Given the description of an element on the screen output the (x, y) to click on. 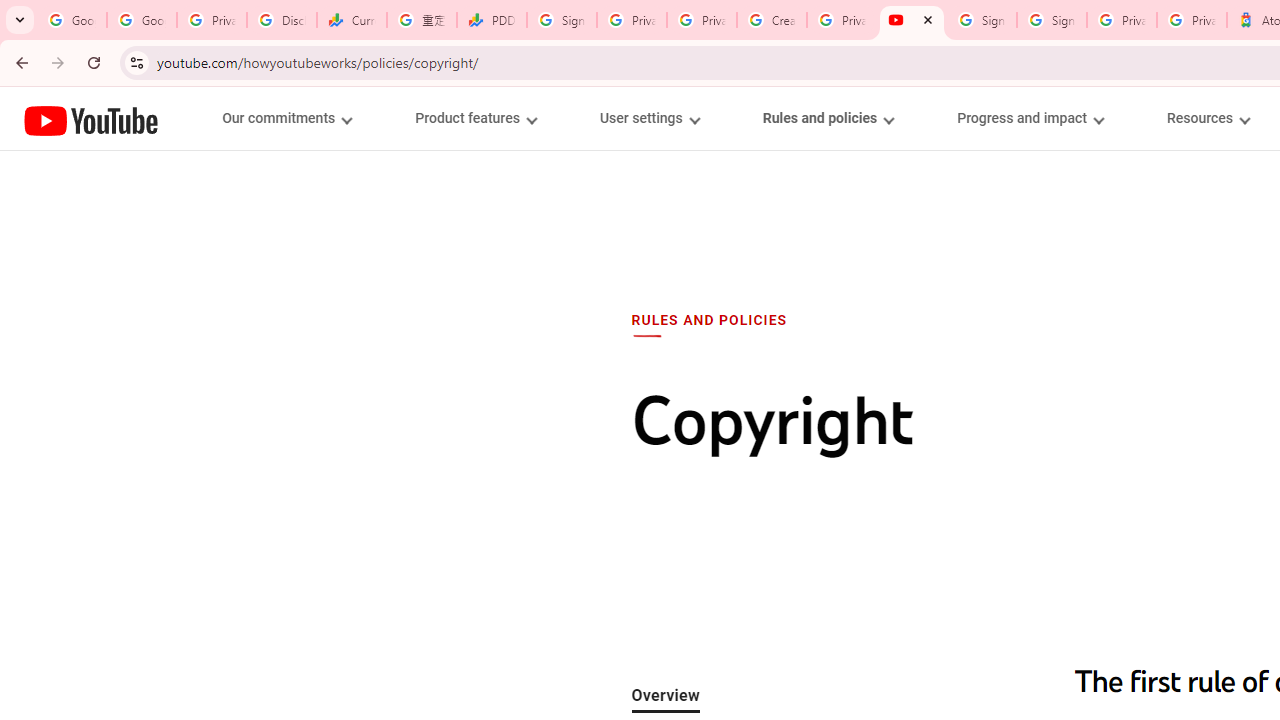
Google Workspace Admin Community (72, 20)
YouTube (91, 120)
Product features menupopup (475, 118)
Sign in - Google Accounts (561, 20)
Sign in - Google Accounts (982, 20)
YouTube Copyright Rules & Policies - How YouTube Works (911, 20)
Our commitments menupopup (286, 118)
Progress and impact menupopup (1030, 118)
